Given the description of an element on the screen output the (x, y) to click on. 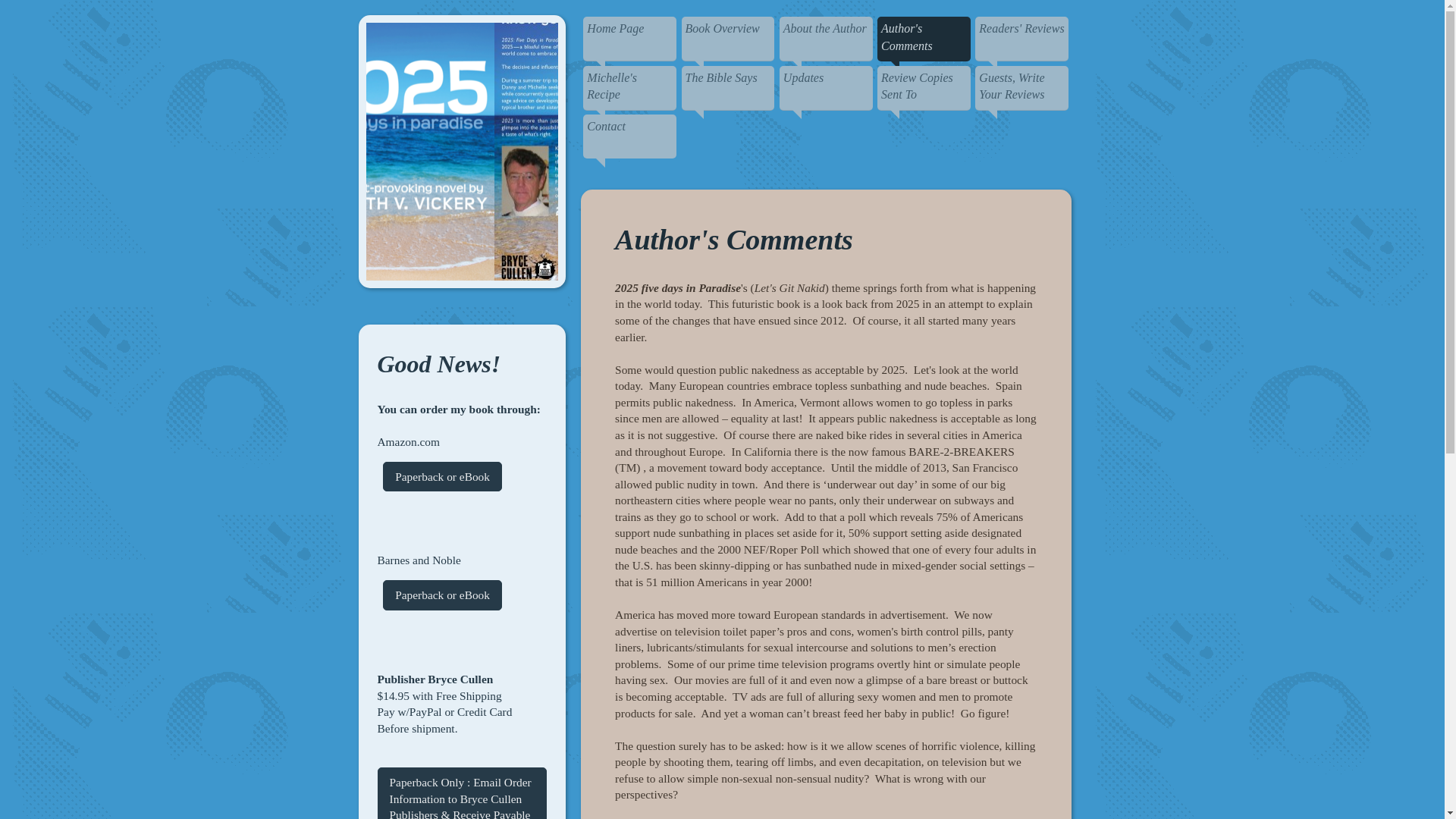
Readers' Reviews Element type: text (1021, 38)
Book Overview Element type: text (728, 38)
Michelle's Recipe Element type: text (629, 87)
Contact Element type: text (629, 136)
Home Page Element type: text (629, 38)
Guests, Write Your Reviews Element type: text (1021, 87)
Updates Element type: text (825, 87)
About the Author Element type: text (825, 38)
Paperback or eBook Element type: text (442, 595)
Review Copies Sent To Element type: text (923, 87)
Paperback or eBook Element type: text (442, 476)
The Bible Says Element type: text (728, 87)
Author's Comments Element type: text (923, 38)
